Given the description of an element on the screen output the (x, y) to click on. 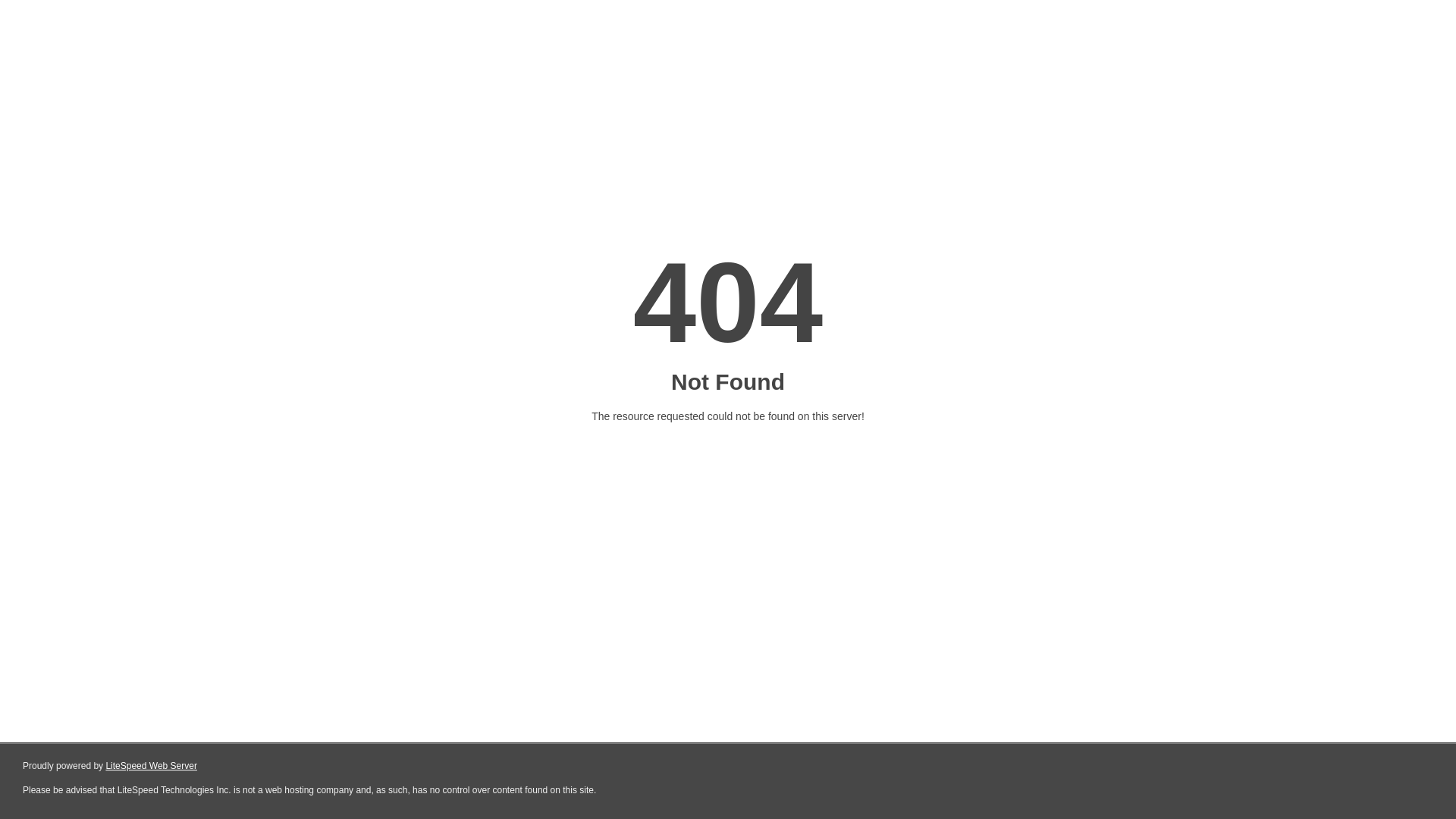
LiteSpeed Web Server Element type: text (151, 765)
